Given the description of an element on the screen output the (x, y) to click on. 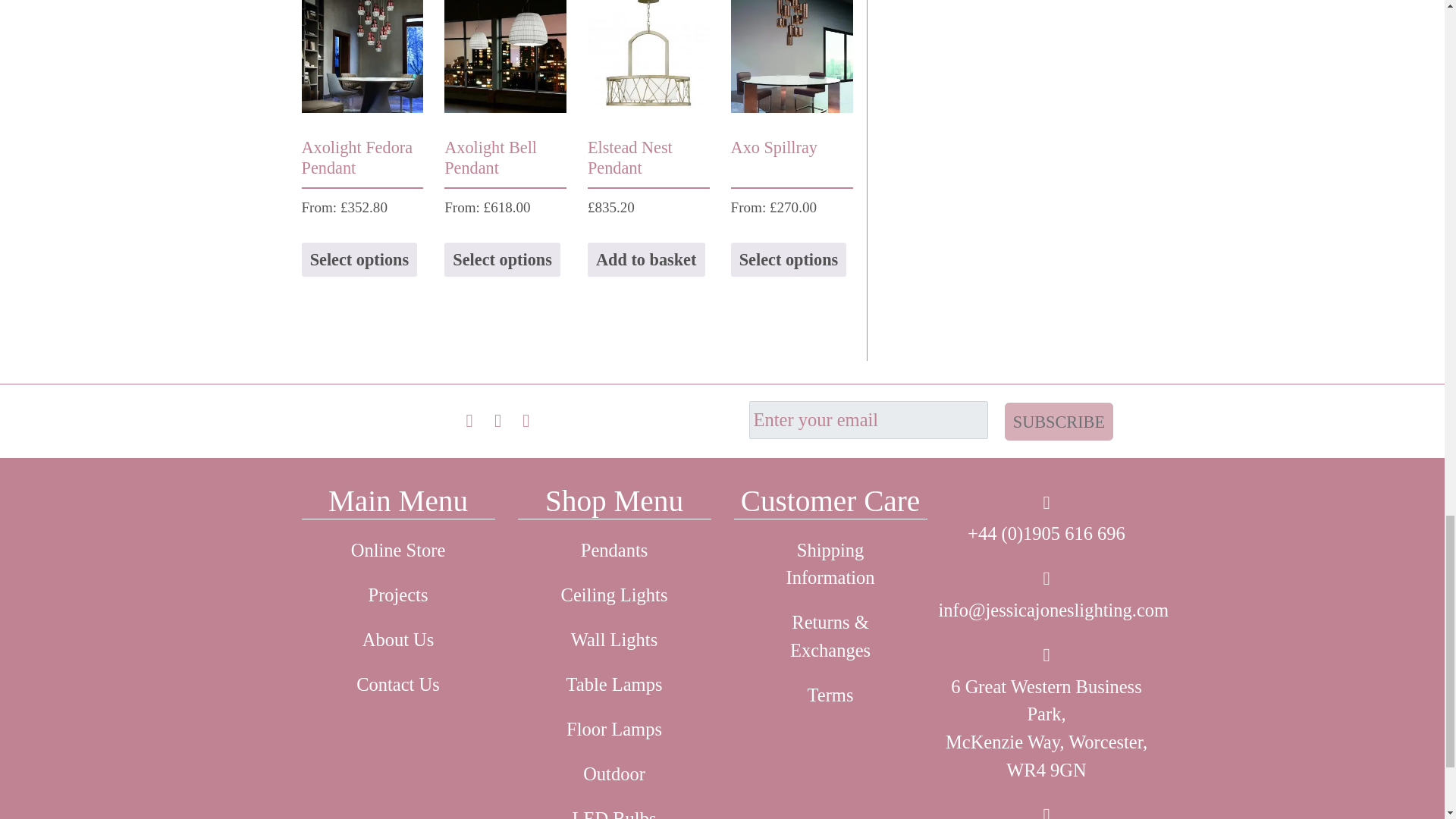
Select options (359, 259)
Projects (398, 595)
Online Store (398, 550)
About Us (398, 640)
Contact Us (398, 684)
Select options (502, 259)
